Given the description of an element on the screen output the (x, y) to click on. 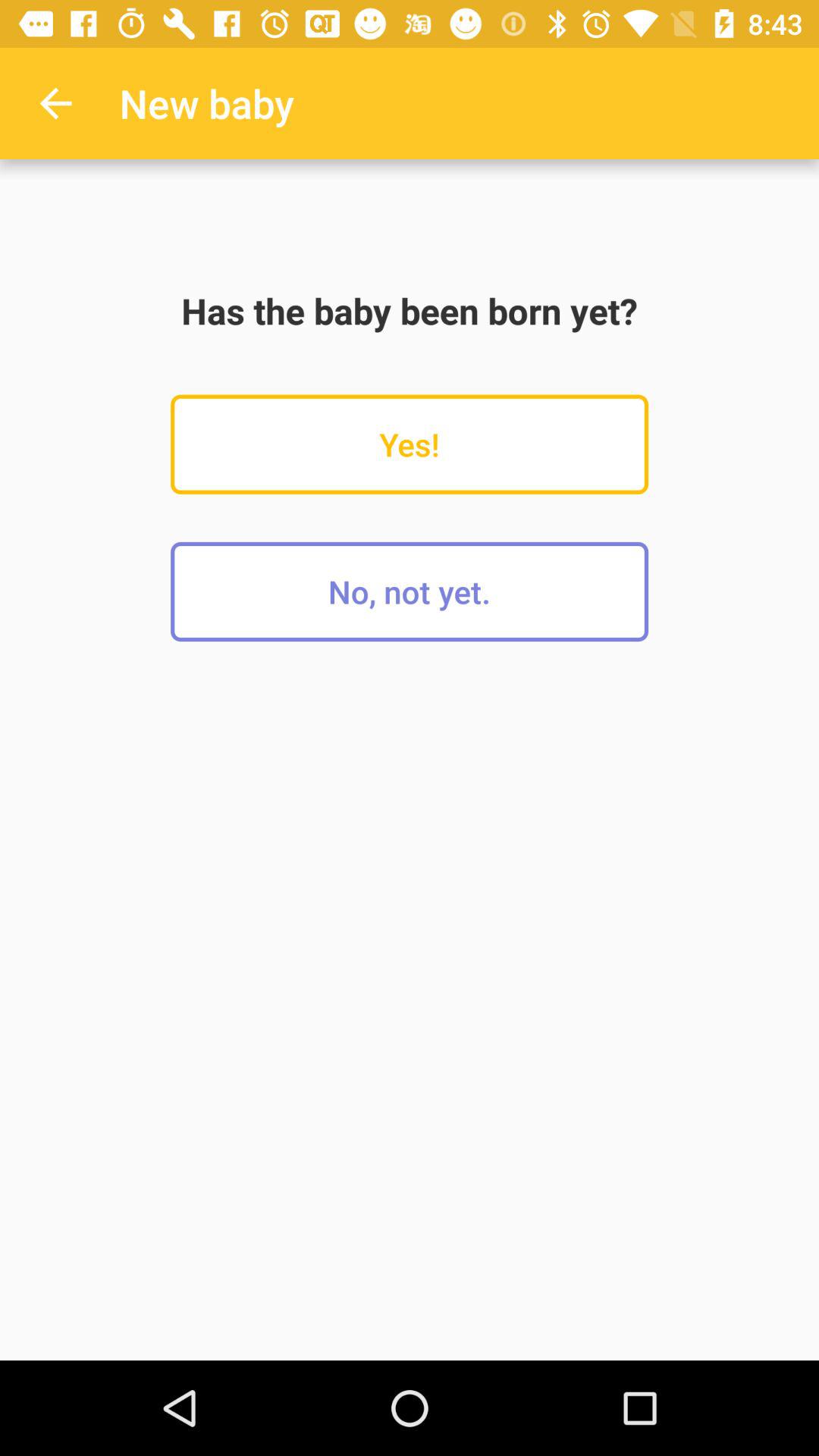
press no, not yet. (409, 591)
